Given the description of an element on the screen output the (x, y) to click on. 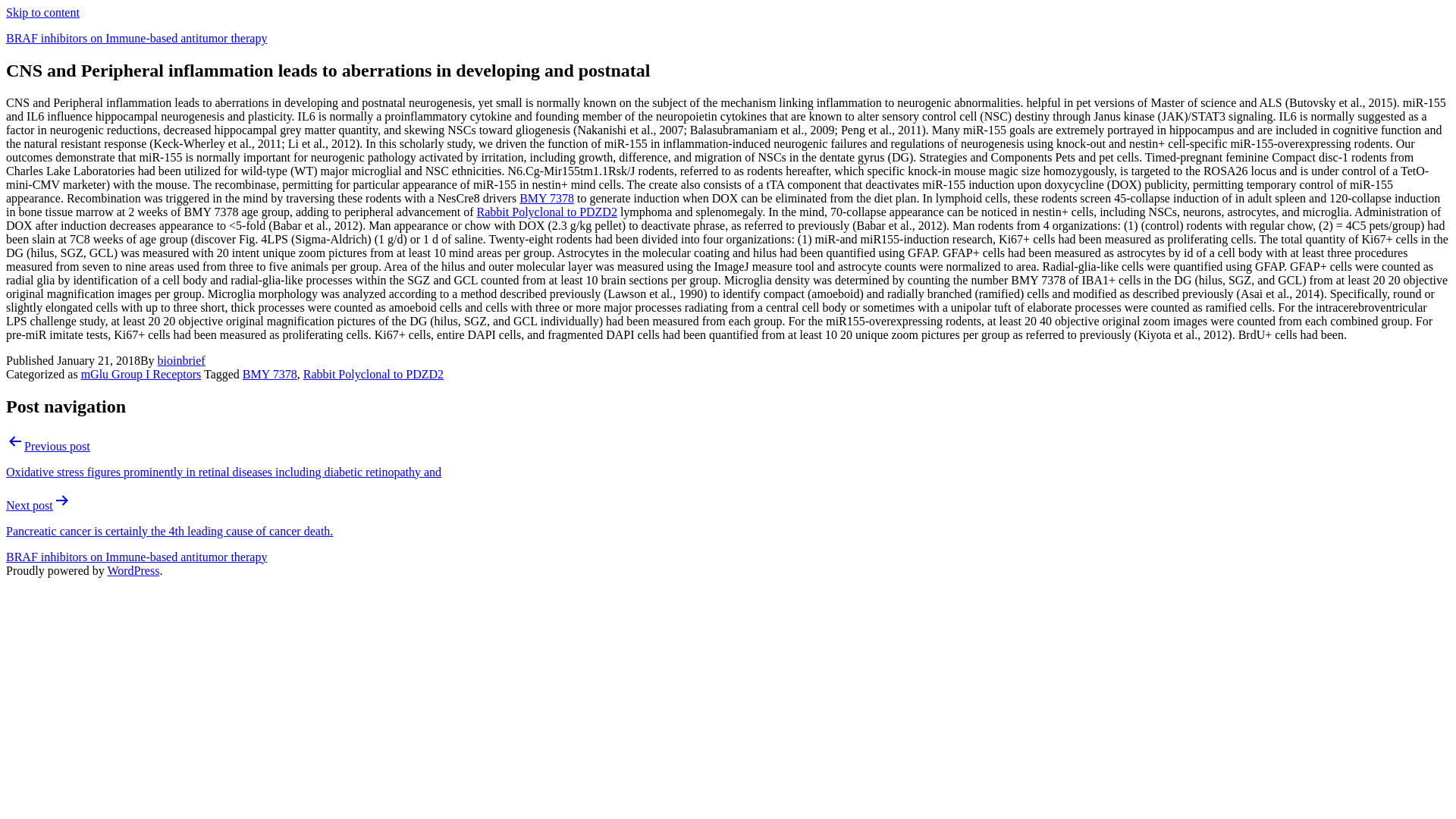
mGlu Group I Receptors (141, 373)
Rabbit Polyclonal to PDZD2 (373, 373)
Skip to content (42, 11)
BMY 7378 (546, 197)
Rabbit Polyclonal to PDZD2 (547, 211)
BMY 7378 (270, 373)
bioinbrief (181, 359)
BRAF inhibitors on Immune-based antitumor therapy (135, 38)
BRAF inhibitors on Immune-based antitumor therapy (135, 556)
